Given the description of an element on the screen output the (x, y) to click on. 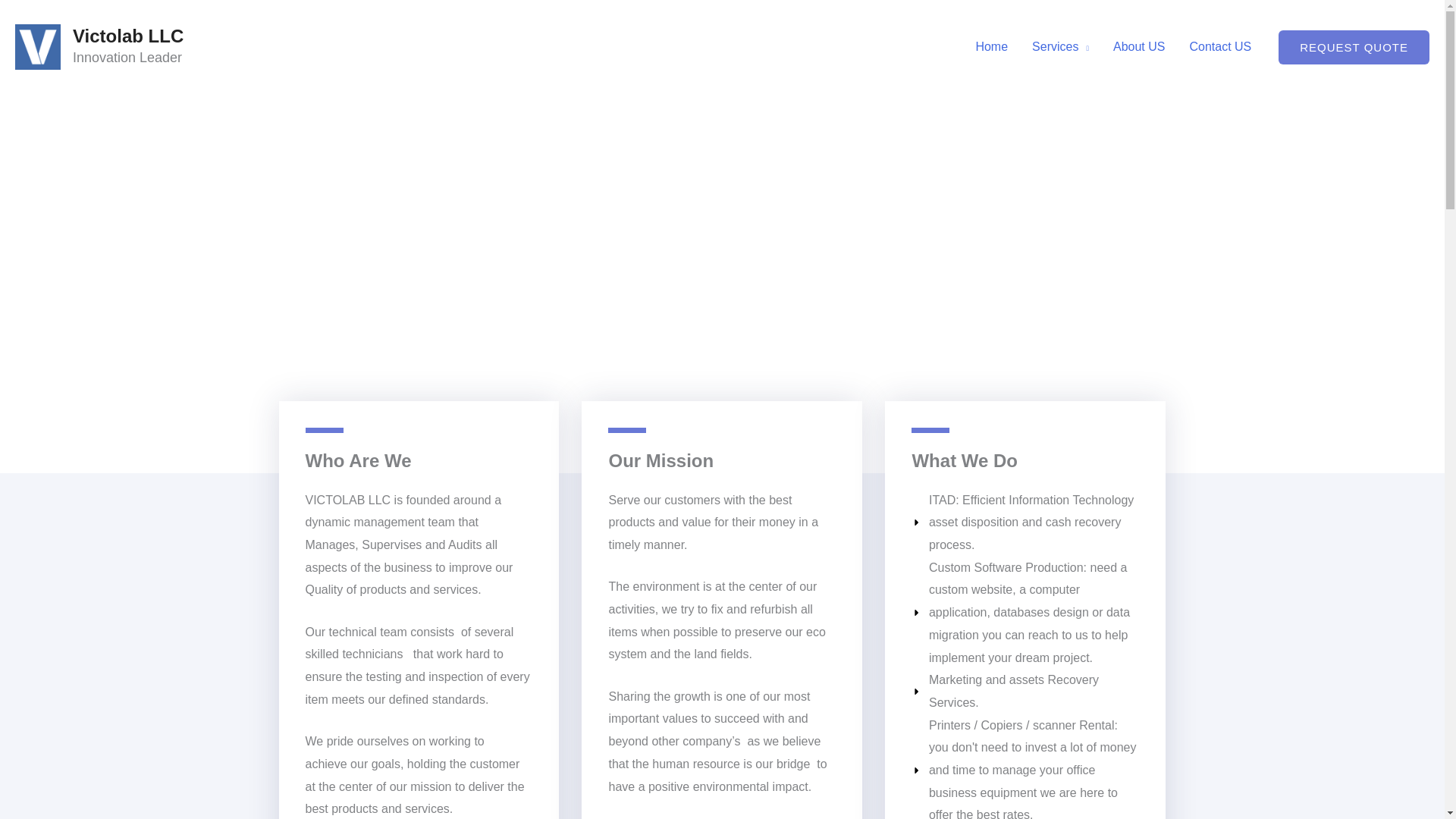
Victolab LLC (127, 35)
REQUEST QUOTE (1353, 47)
About US (1138, 46)
Home (991, 46)
Contact US (1219, 46)
Services (1060, 46)
